Given the description of an element on the screen output the (x, y) to click on. 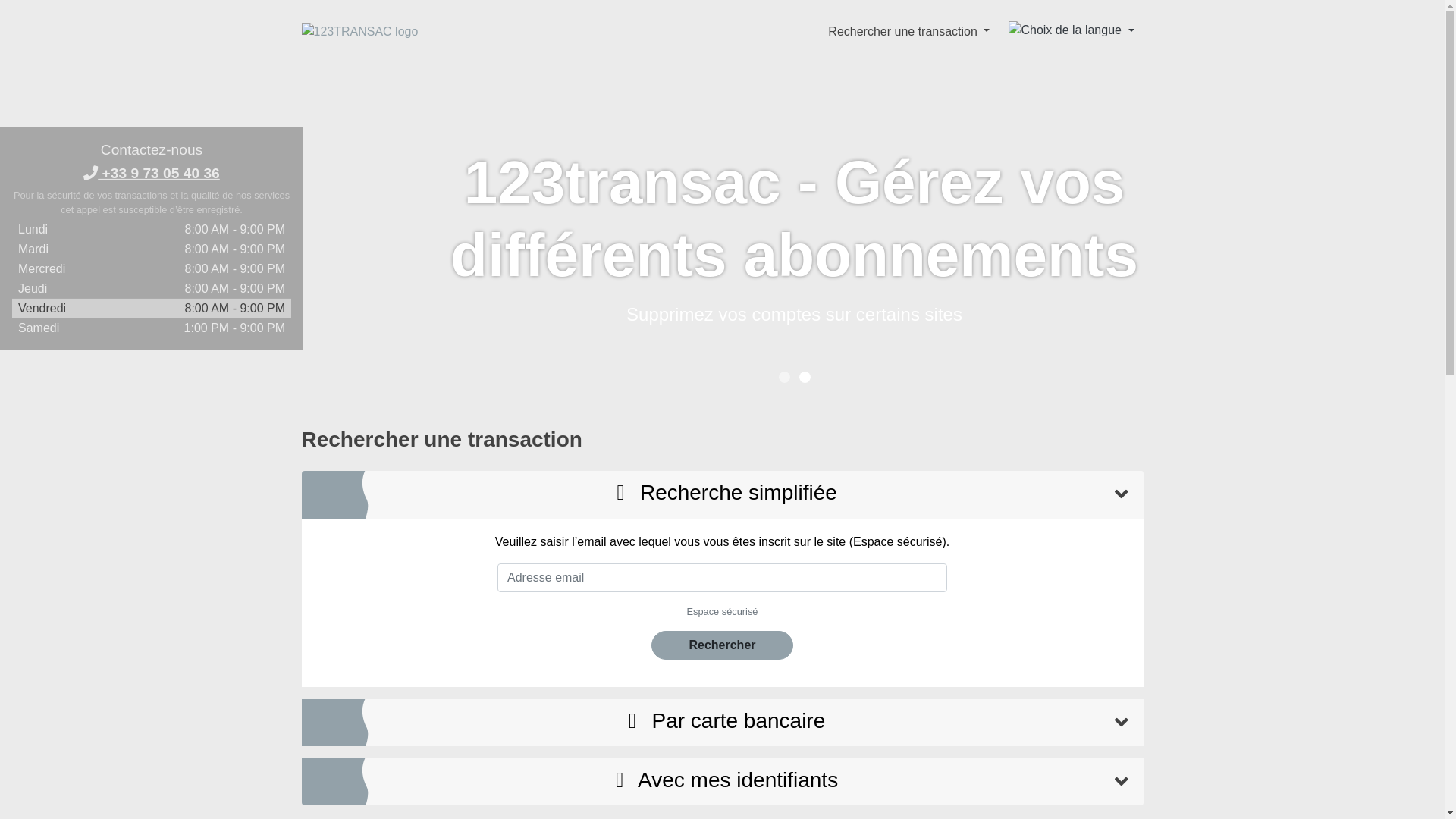
+33 9 73 05 40 36 Element type: text (151, 173)
Rechercher Element type: text (721, 644)
Rechercher une transaction Element type: text (908, 30)
